Given the description of an element on the screen output the (x, y) to click on. 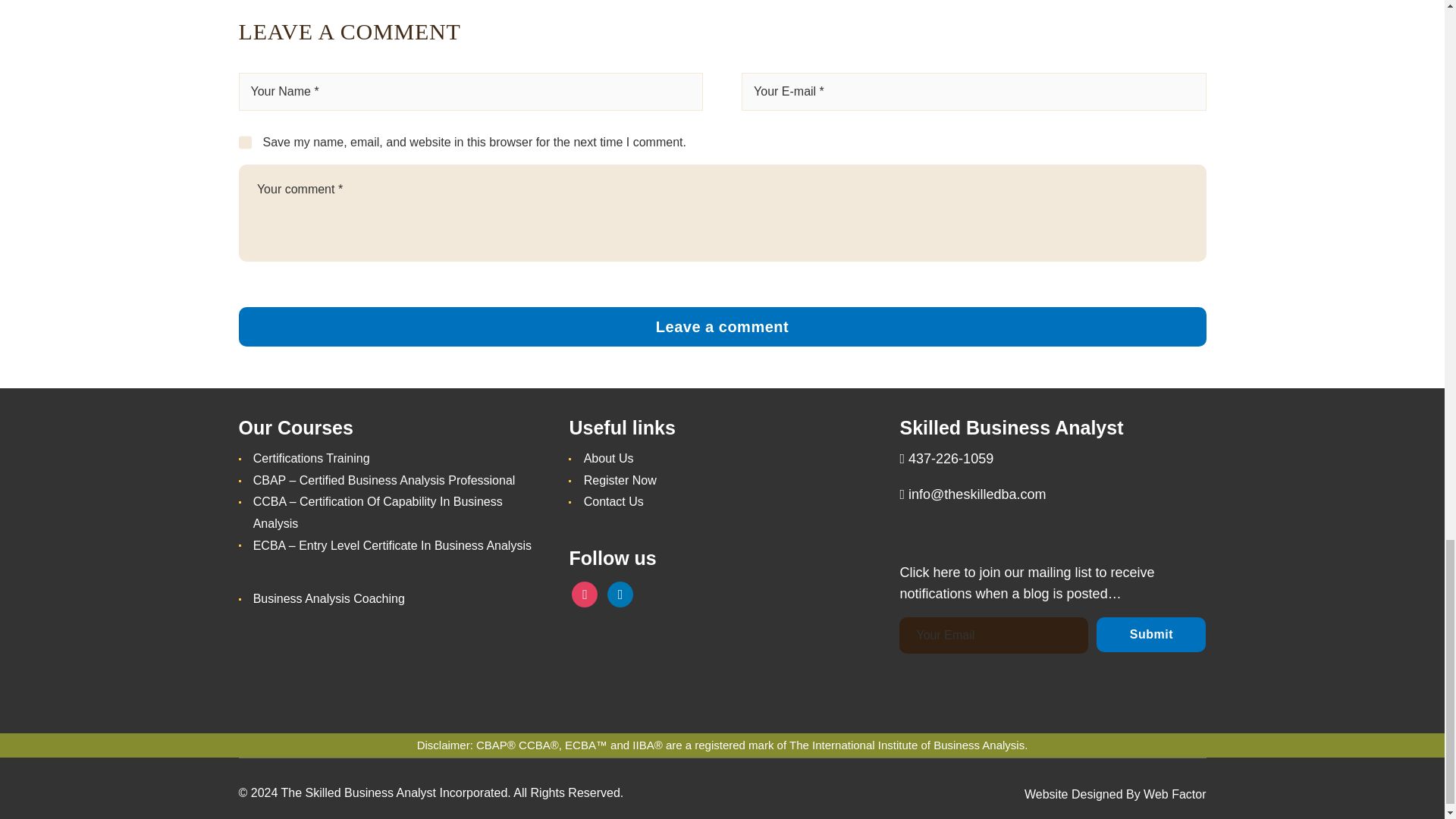
Leave a comment (721, 326)
Default Label (620, 593)
Submit (1150, 634)
Instagram (584, 593)
